Given the description of an element on the screen output the (x, y) to click on. 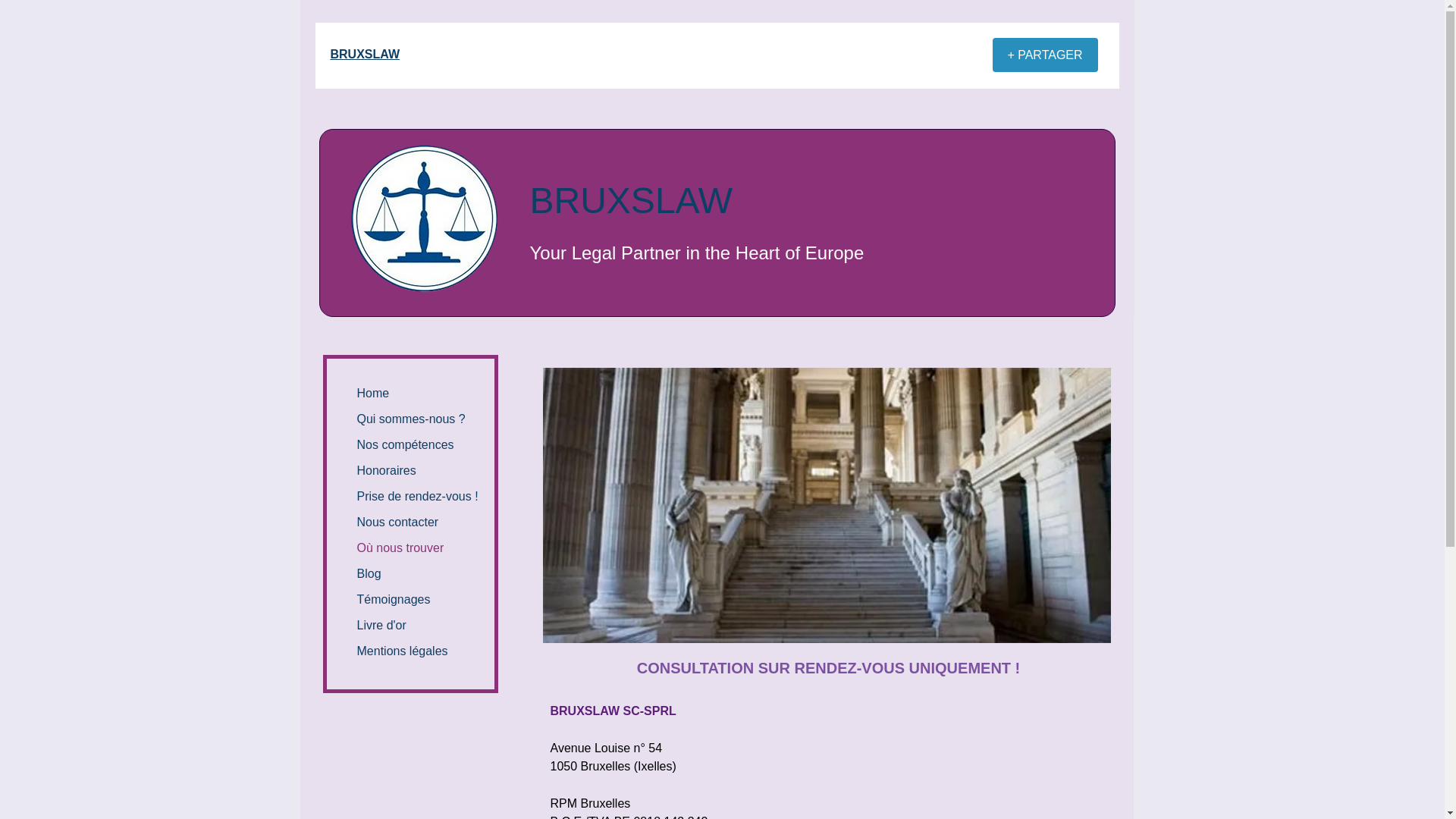
Embedded Content Element type: hover (919, 63)
Prise de rendez-vous ! Element type: text (416, 496)
BRUXSLAW Element type: text (365, 53)
Home Element type: text (372, 392)
Blog Element type: text (368, 573)
+ PARTAGER Element type: text (1044, 54)
Livre d'or Element type: text (380, 625)
Honoraires Element type: text (385, 470)
Nous contacter Element type: text (396, 521)
Qui sommes-nous ? Element type: text (410, 418)
Embedded Content Element type: hover (821, 57)
